Given the description of an element on the screen output the (x, y) to click on. 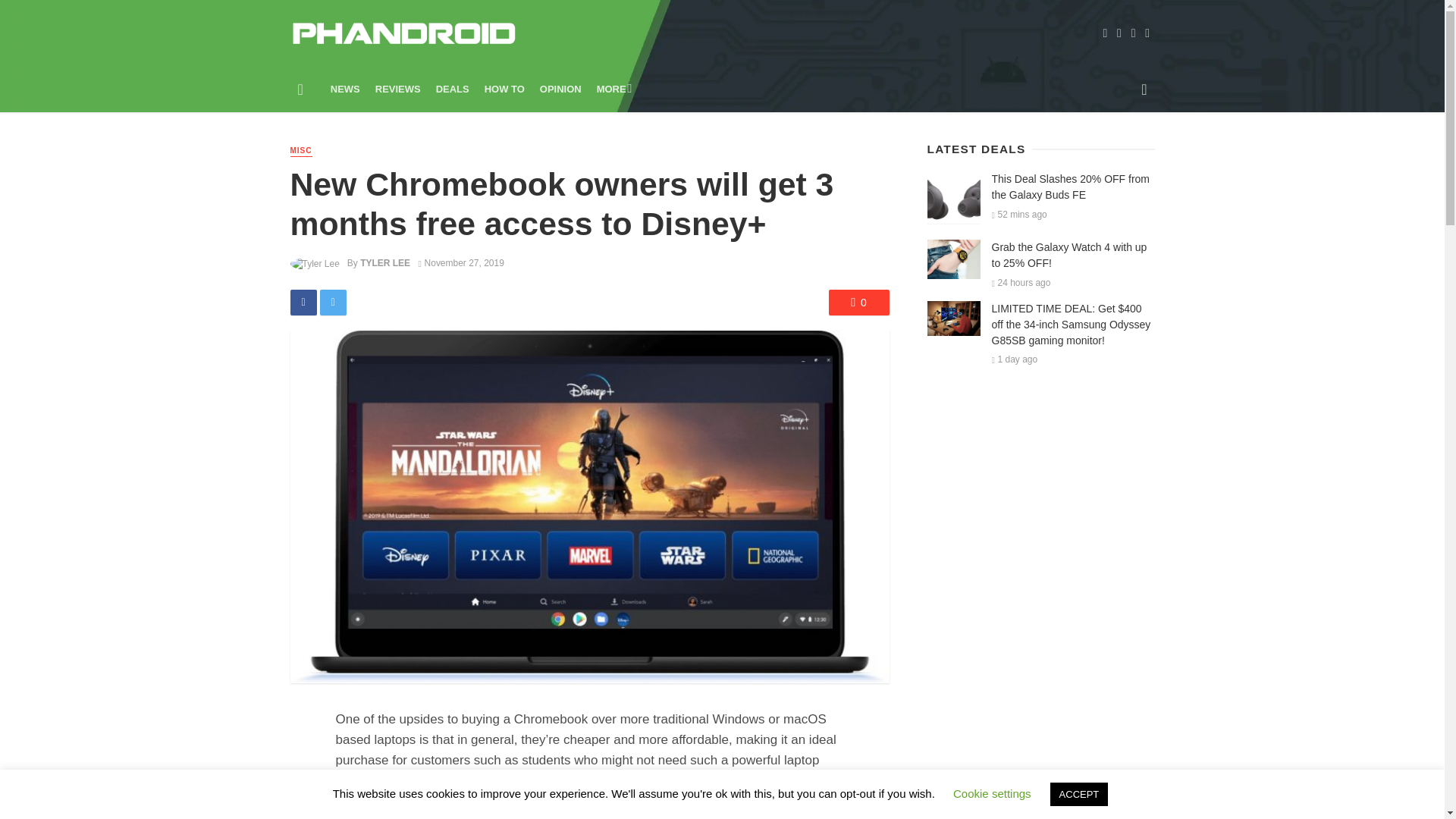
0 (858, 302)
MISC (300, 151)
OPINION (560, 89)
HOW TO (504, 89)
TYLER LEE (384, 262)
DEALS (452, 89)
MORE (612, 89)
November 27, 2019 at 8:30 am (461, 262)
NEWS (345, 89)
REVIEWS (398, 89)
Posts by Tyler Lee (384, 262)
